Given the description of an element on the screen output the (x, y) to click on. 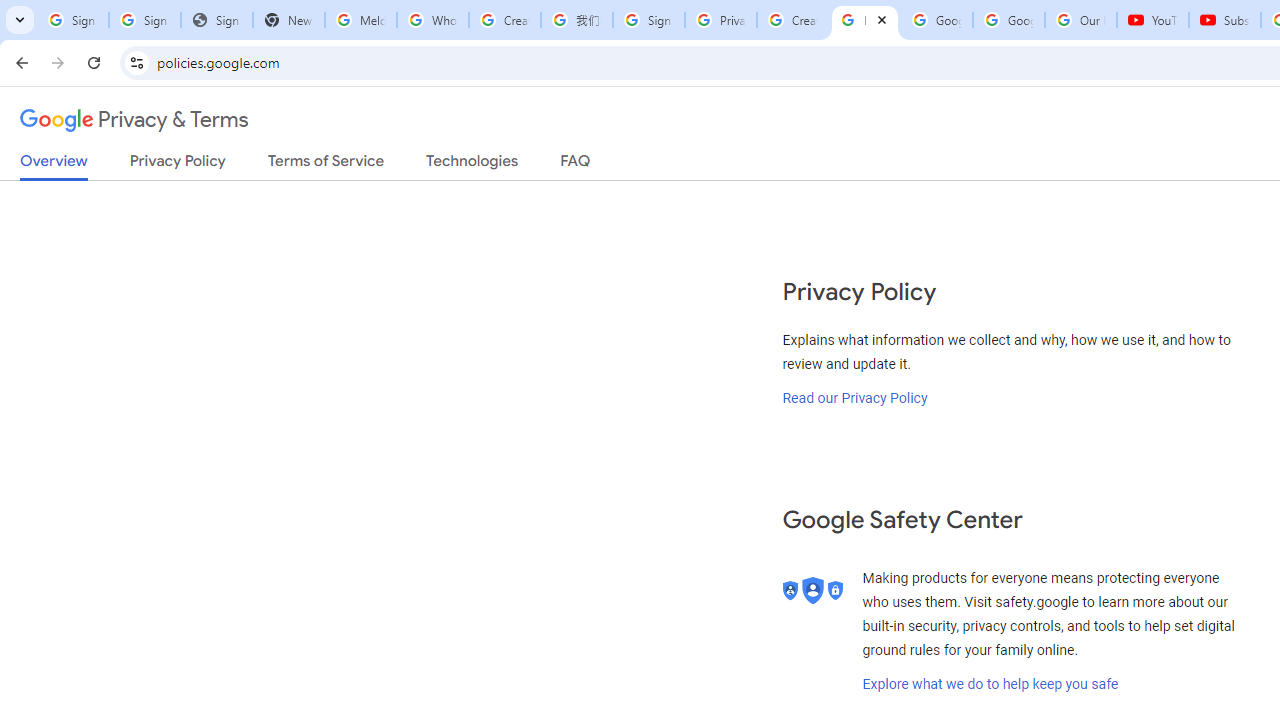
Who is my administrator? - Google Account Help (432, 20)
Create your Google Account (504, 20)
Google Account (1008, 20)
YouTube (1153, 20)
Sign in - Google Accounts (648, 20)
